Given the description of an element on the screen output the (x, y) to click on. 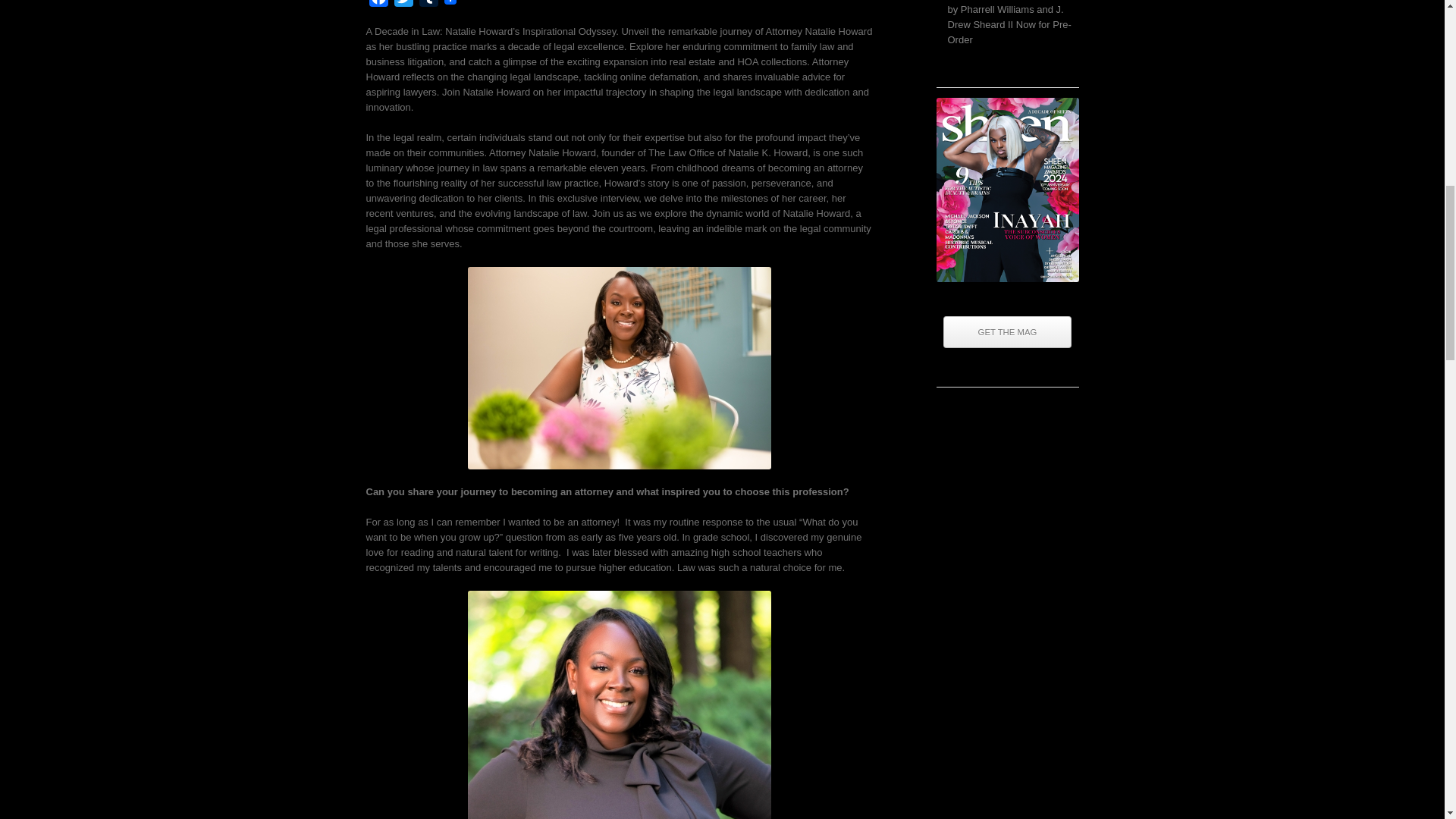
Facebook (377, 6)
Tumblr (427, 6)
Twitter (403, 6)
